Given the description of an element on the screen output the (x, y) to click on. 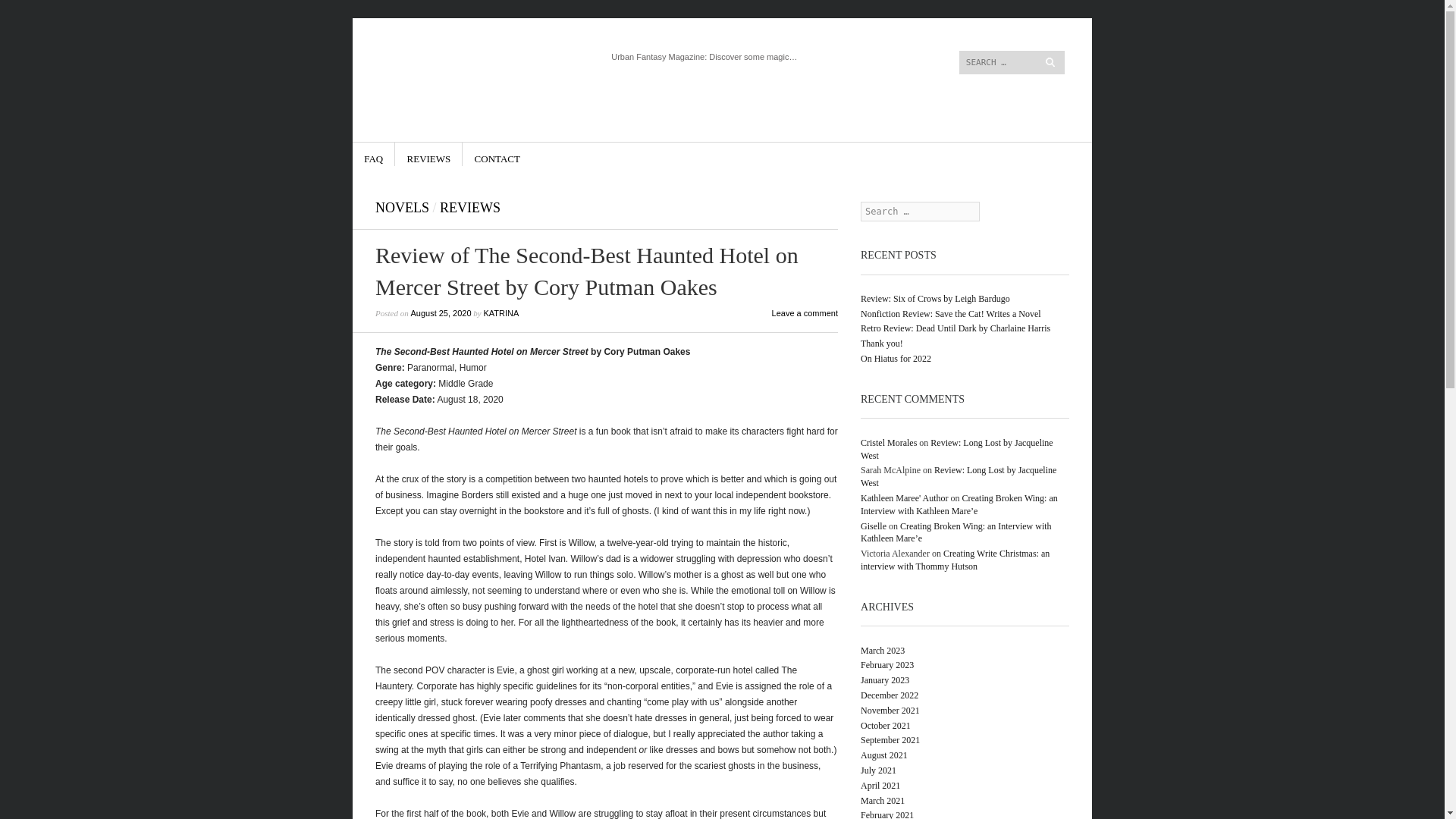
REVIEWS (469, 207)
REVIEWS (429, 154)
CONTACT (496, 154)
Leave a comment (804, 312)
Search (26, 9)
KATRINA (500, 312)
Retro Review: Dead Until Dark by Charlaine Harris (954, 327)
Skip to content (885, 23)
NOVELS (402, 207)
Thank you! (881, 343)
Skip to content (406, 154)
On Hiatus for 2022 (895, 357)
Review: Long Lost by Jacqueline West (958, 476)
August 25, 2020 (440, 312)
View all posts by Katrina (500, 312)
